Given the description of an element on the screen output the (x, y) to click on. 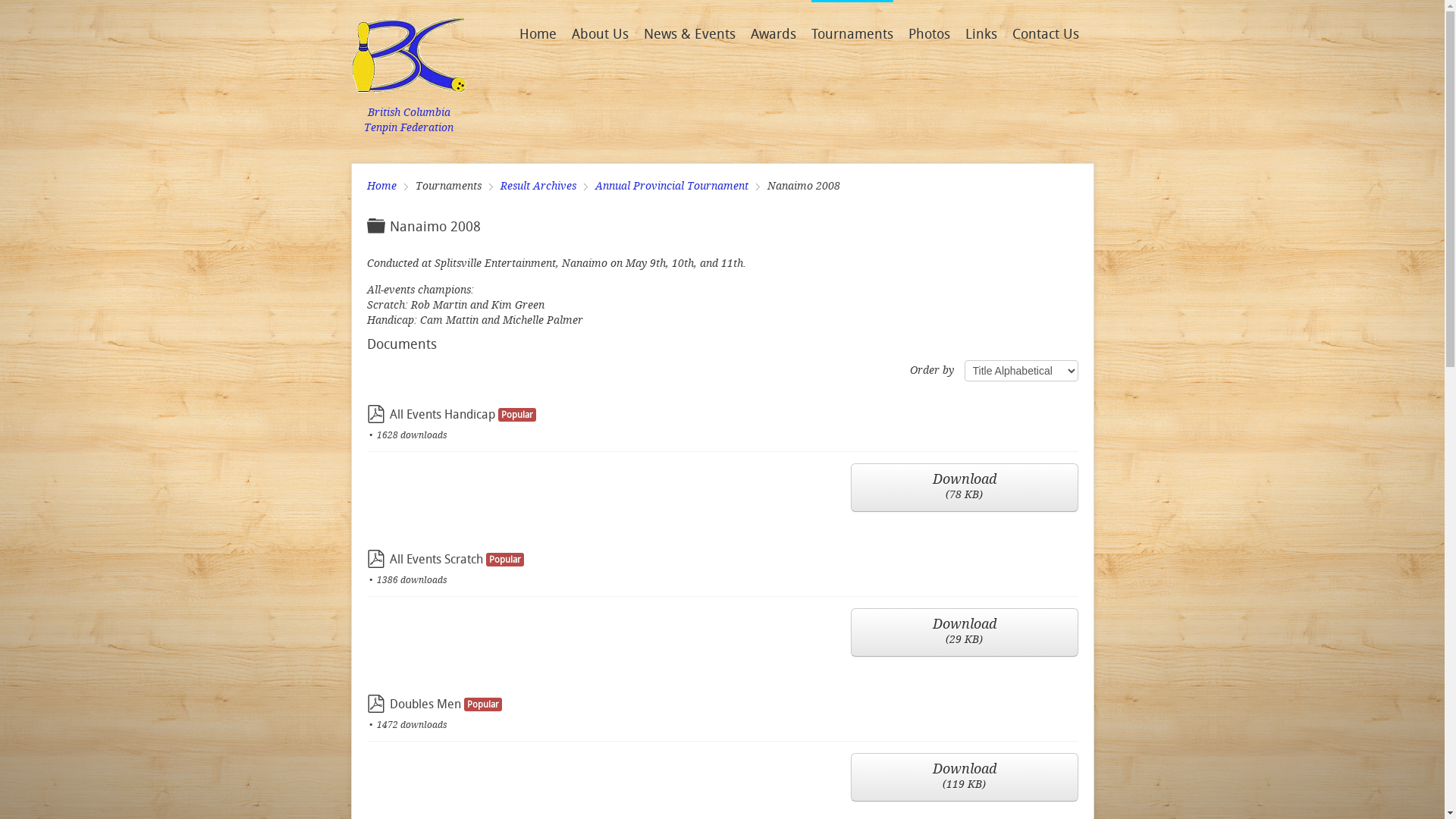
Annual Provincial Tournament Element type: text (676, 186)
Download
(29 KB) Element type: text (964, 632)
Download
(78 KB) Element type: text (964, 487)
Contact Us Element type: text (1044, 33)
Home Element type: text (536, 33)
Home Element type: text (387, 186)
Download
(119 KB) Element type: text (964, 777)
Result Archives Element type: text (543, 186)
  British Columbia
Tenpin Federation Element type: text (408, 73)
